Given the description of an element on the screen output the (x, y) to click on. 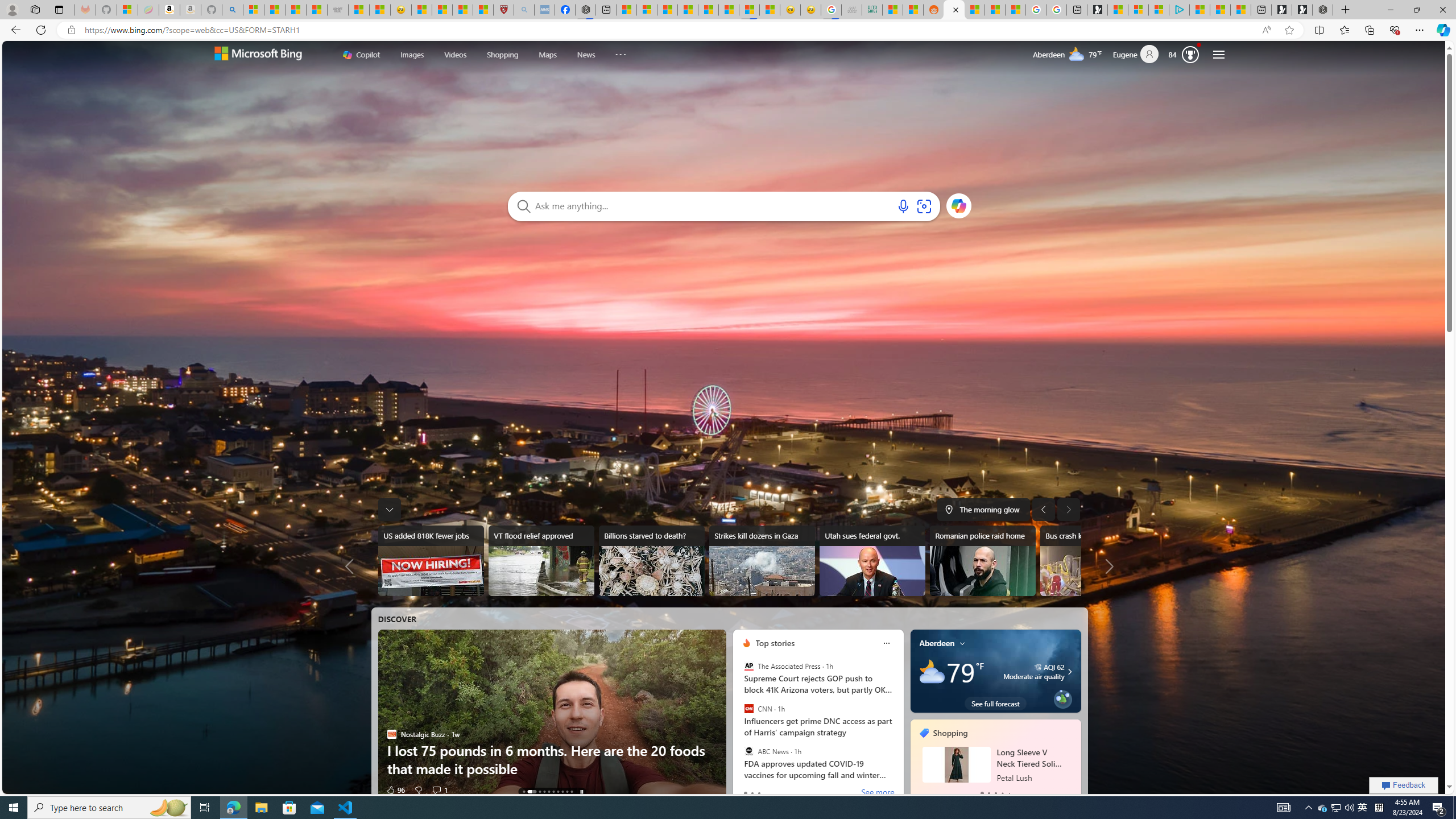
14 Common Myths Debunked By Scientific Facts (708, 9)
Welcome to Bing Search (257, 54)
The taskbar was expanded. Press to collapse taskbar (388, 508)
Shopping (950, 732)
tab-4 (1009, 793)
Class: weather-arrow-glyph (1069, 671)
